Given the description of an element on the screen output the (x, y) to click on. 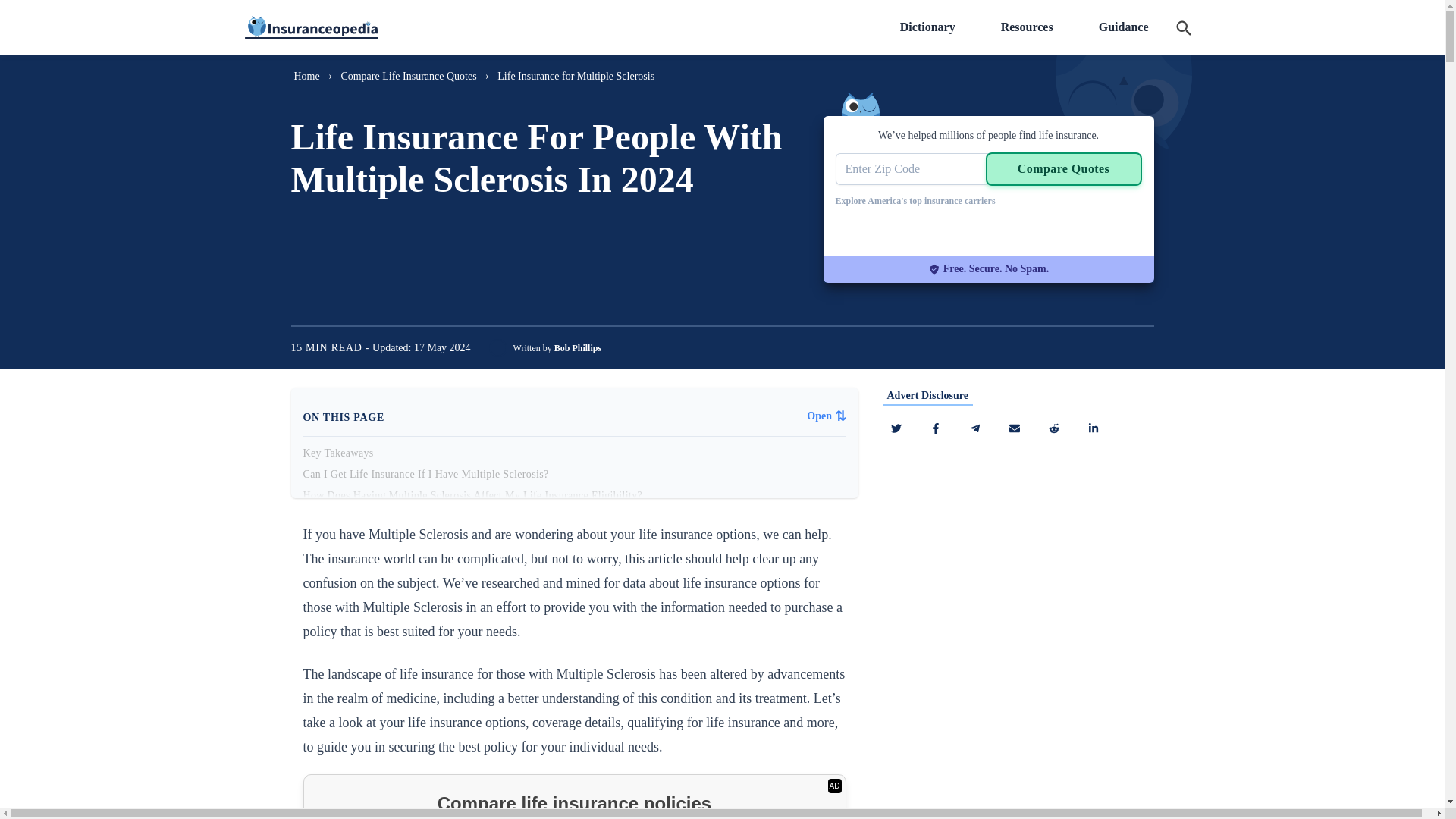
Share on Telegram (974, 428)
Share on Facebook (935, 428)
Resources (1026, 27)
Share on LinkedIn (1093, 428)
Share on email (1054, 428)
Guidance (1123, 27)
Share on Twitter (896, 428)
Dictionary (928, 27)
Share via email (1014, 428)
